Given the description of an element on the screen output the (x, y) to click on. 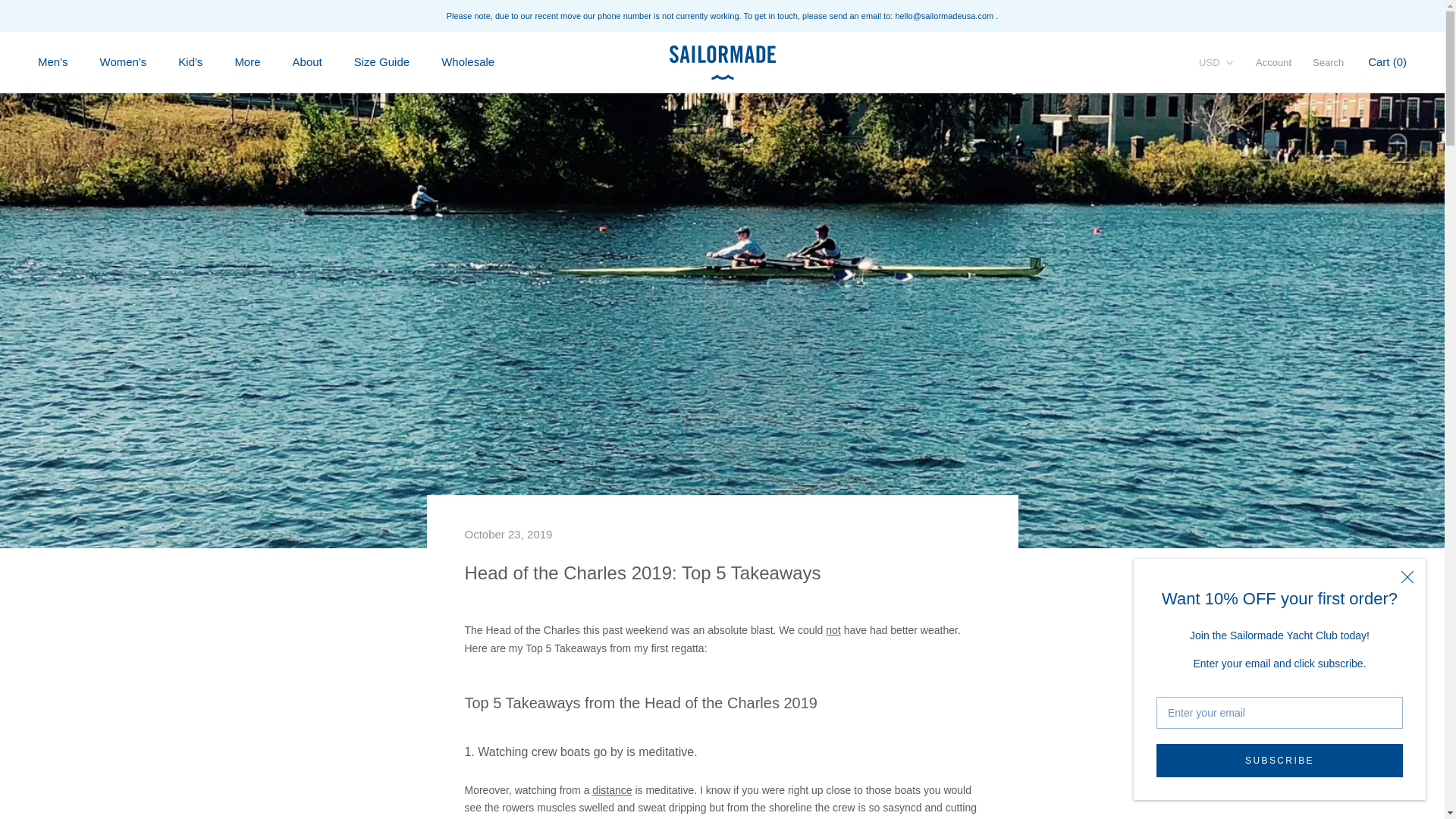
Currency selector (1216, 61)
SUBSCRIBE (1279, 760)
